Given the description of an element on the screen output the (x, y) to click on. 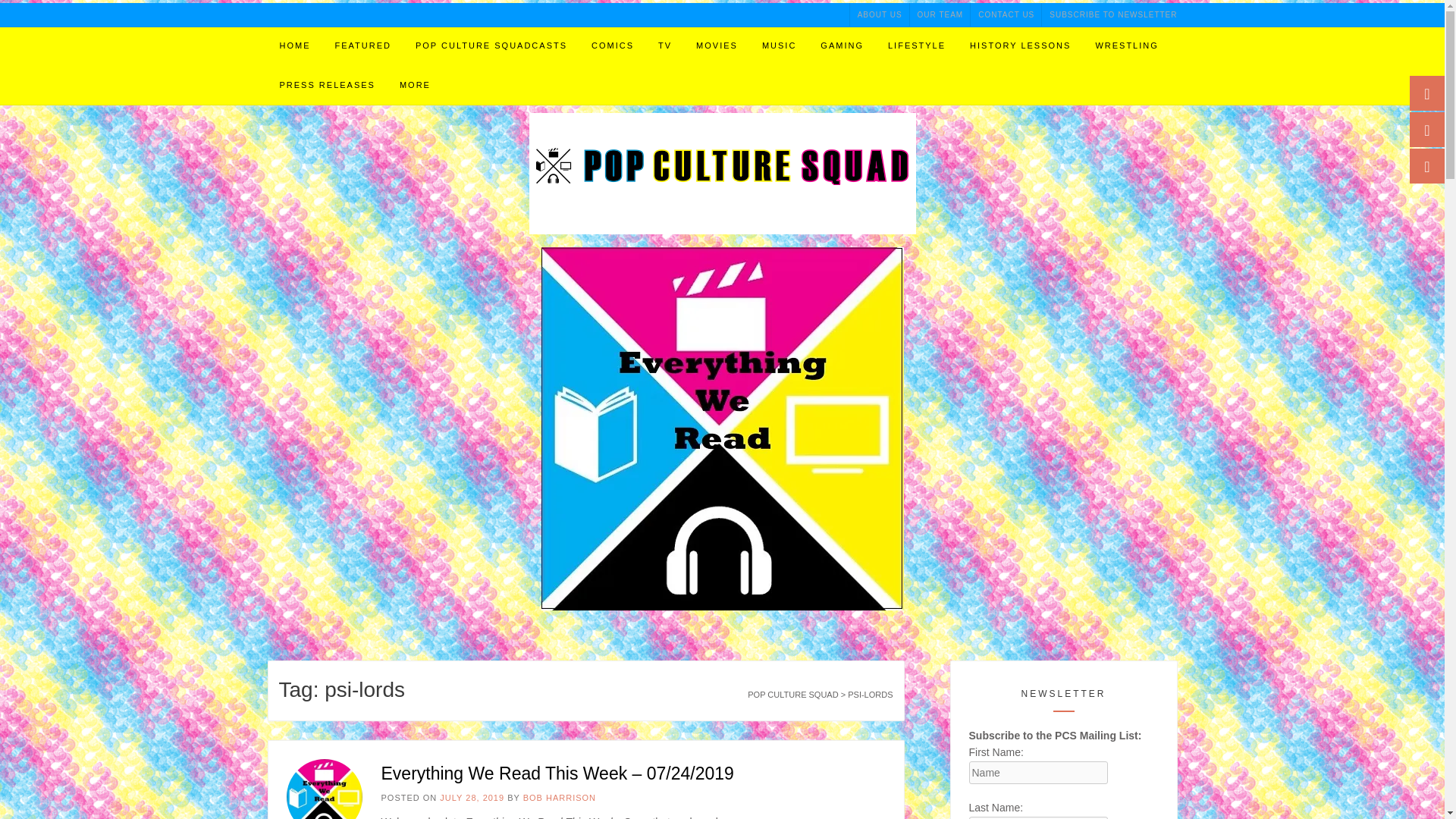
ABOUT US (880, 14)
OUR TEAM (940, 14)
FEATURED (363, 46)
Go to Pop Culture Squad. (793, 694)
TV (665, 46)
COMICS (612, 46)
HOME (293, 46)
SUBSCRIBE TO NEWSLETTER (1109, 14)
CONTACT US (1006, 14)
POP CULTURE SQUADCASTS (491, 46)
